Given the description of an element on the screen output the (x, y) to click on. 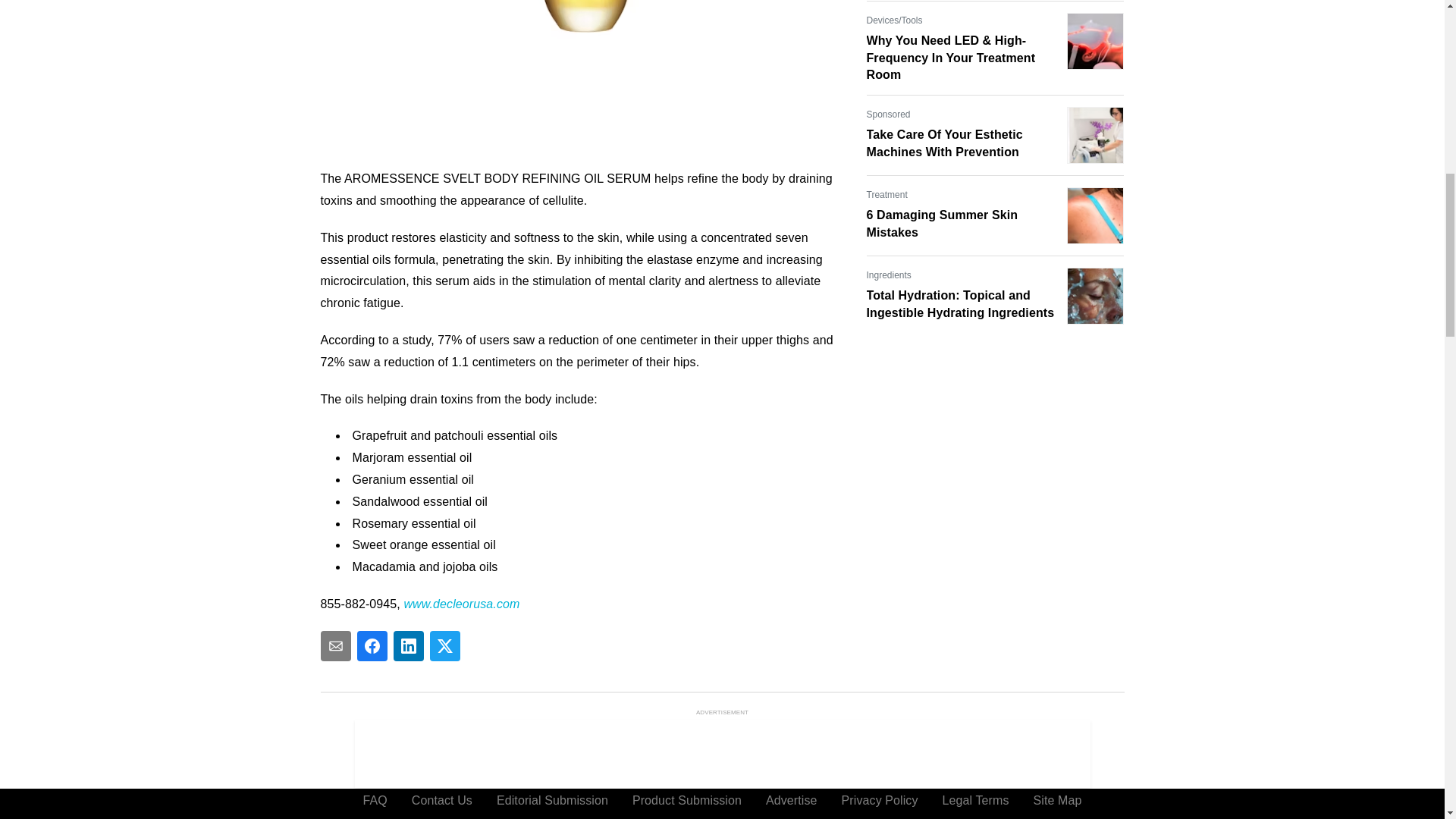
Share To email (335, 645)
Sponsored (888, 114)
Share To linkedin (408, 645)
Share To facebook (371, 645)
Share To twitter (444, 645)
